Given the description of an element on the screen output the (x, y) to click on. 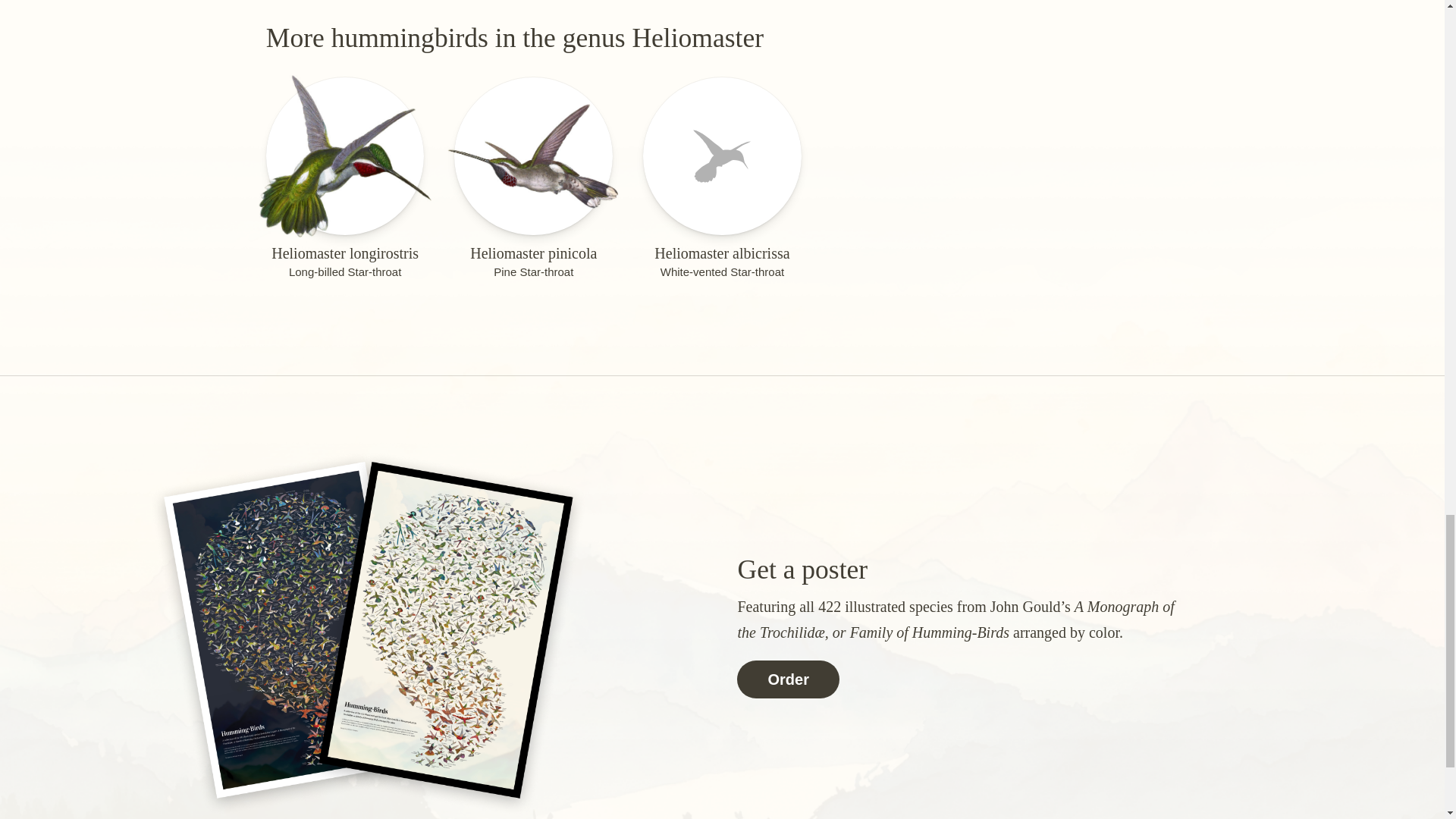
Order (787, 679)
